Given the description of an element on the screen output the (x, y) to click on. 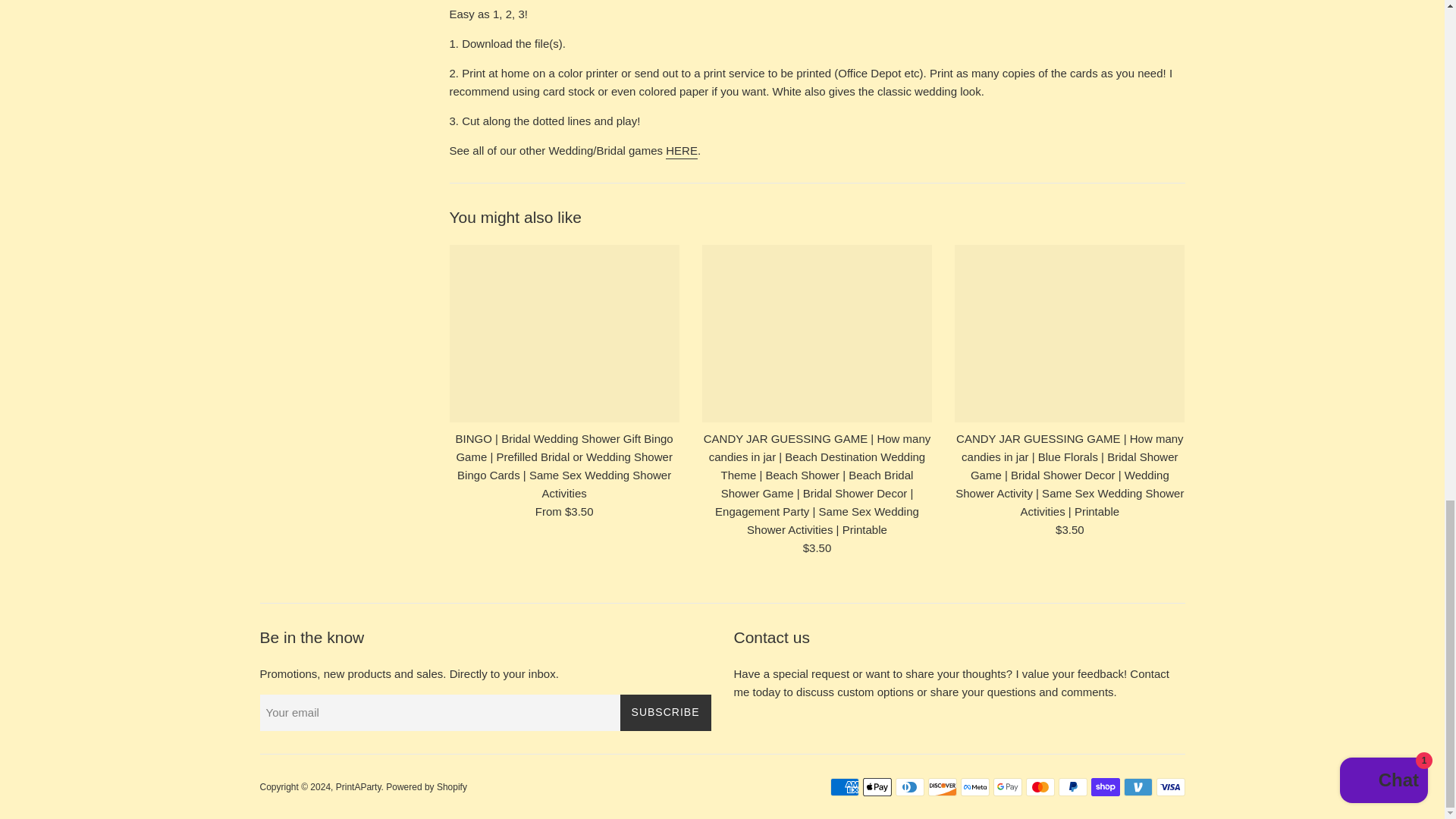
Mastercard (1039, 787)
Shop Pay (1104, 787)
PayPal (1072, 787)
Apple Pay (877, 787)
Google Pay (1007, 787)
American Express (844, 787)
Diners Club (909, 787)
Discover (942, 787)
Meta Pay (973, 787)
